Given the description of an element on the screen output the (x, y) to click on. 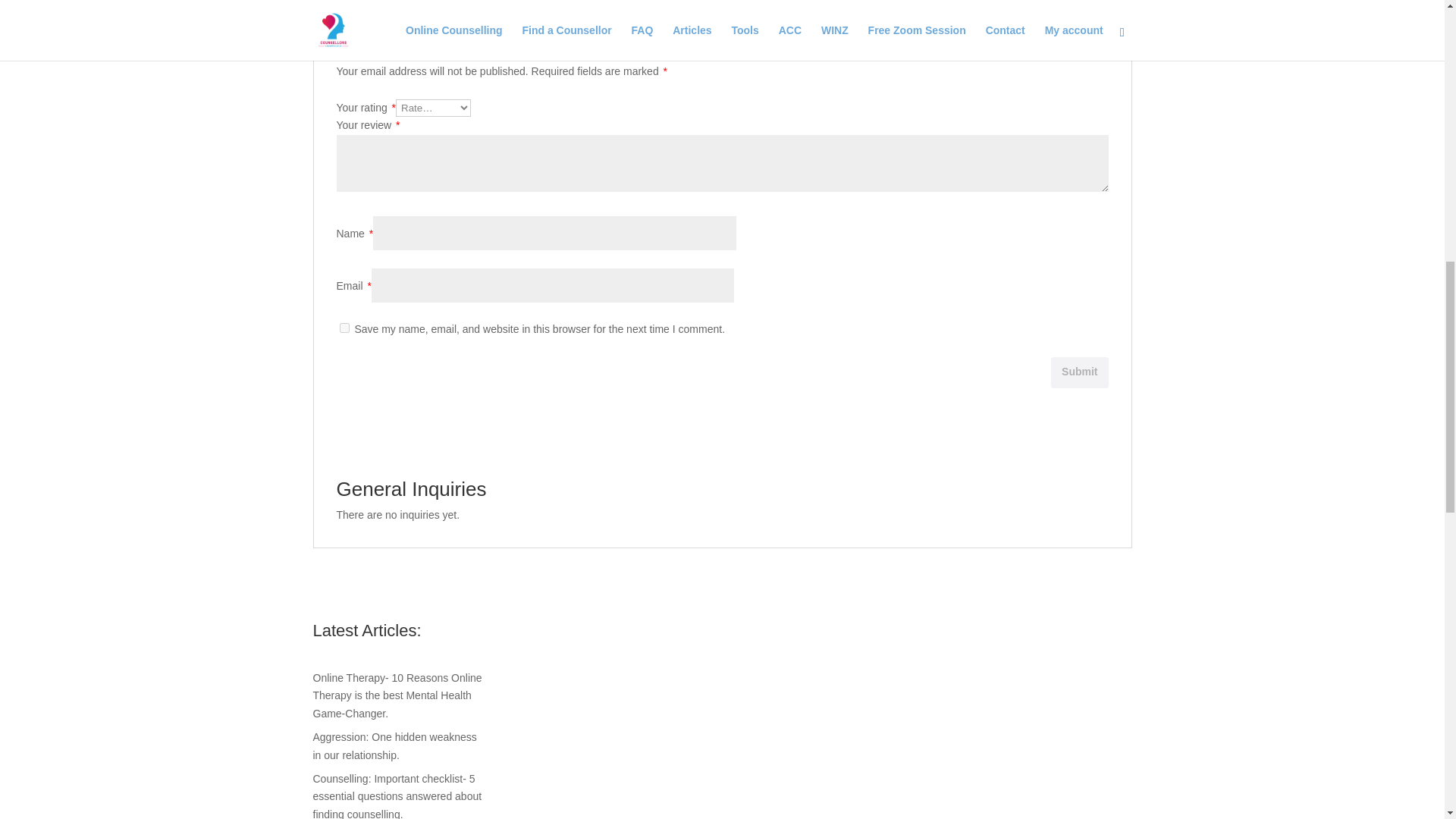
Submit (1079, 372)
Aggression: One hidden weakness in our relationship. (394, 746)
yes (344, 327)
Submit (1079, 372)
